Given the description of an element on the screen output the (x, y) to click on. 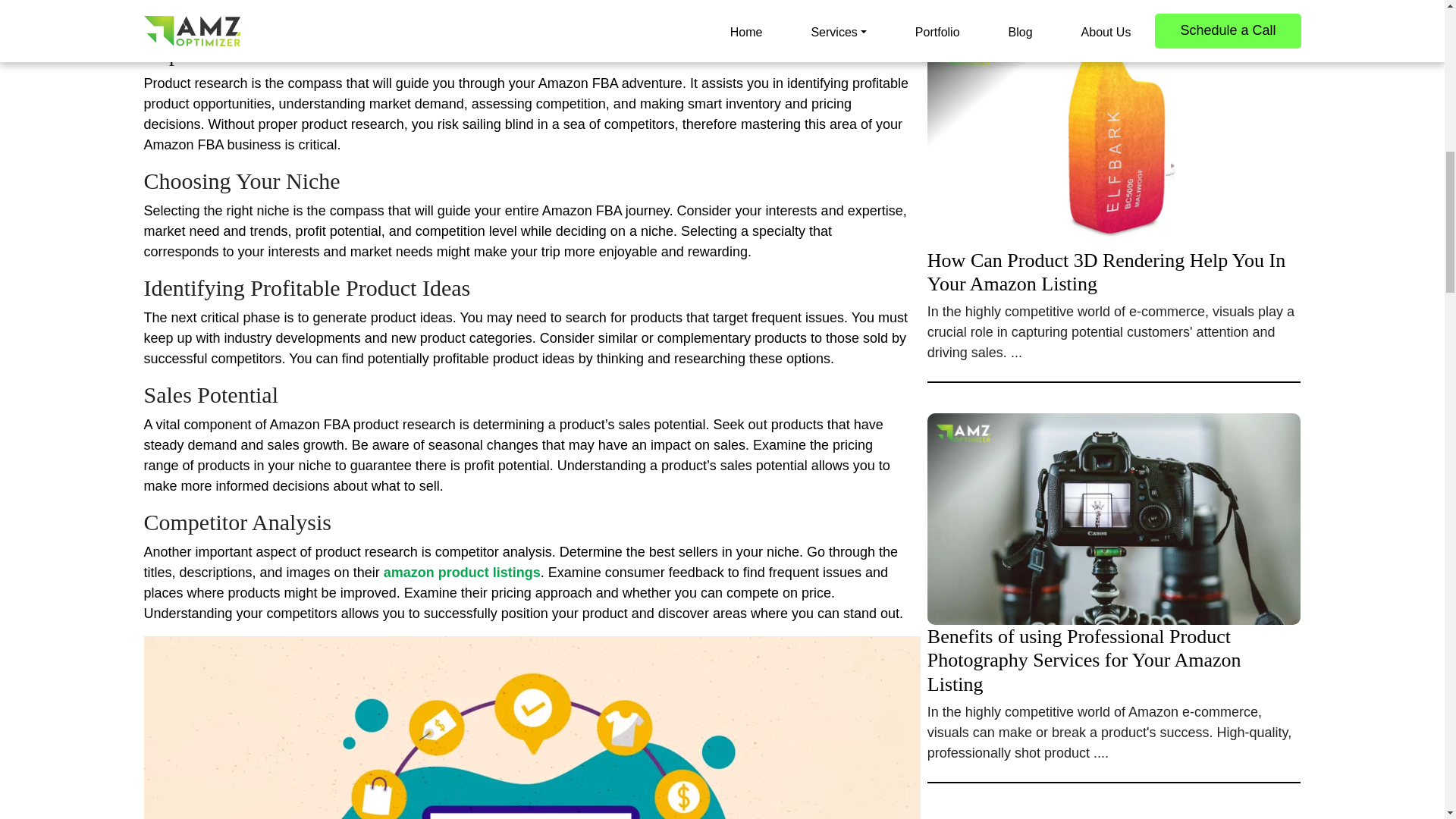
How Can Product 3D Rendering Help You In Your Amazon Listing (1114, 215)
amazon product listings (462, 572)
